Given the description of an element on the screen output the (x, y) to click on. 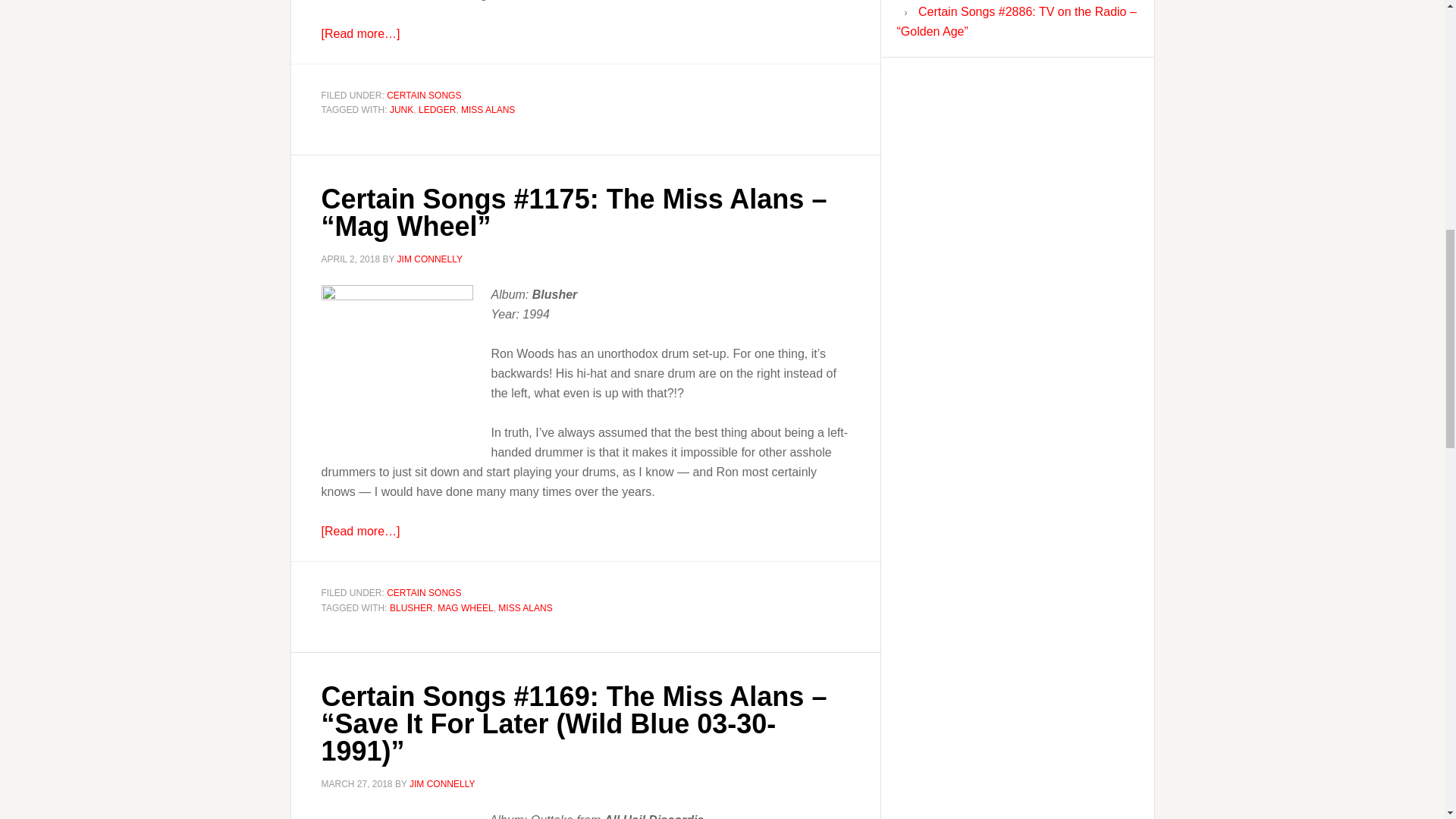
JIM CONNELLY (441, 783)
MISS ALANS (524, 606)
LEDGER (437, 109)
CERTAIN SONGS (424, 593)
JIM CONNELLY (430, 258)
CERTAIN SONGS (424, 94)
BLUSHER (411, 606)
MAG WHEEL (465, 606)
MISS ALANS (488, 109)
JUNK (401, 109)
